Given the description of an element on the screen output the (x, y) to click on. 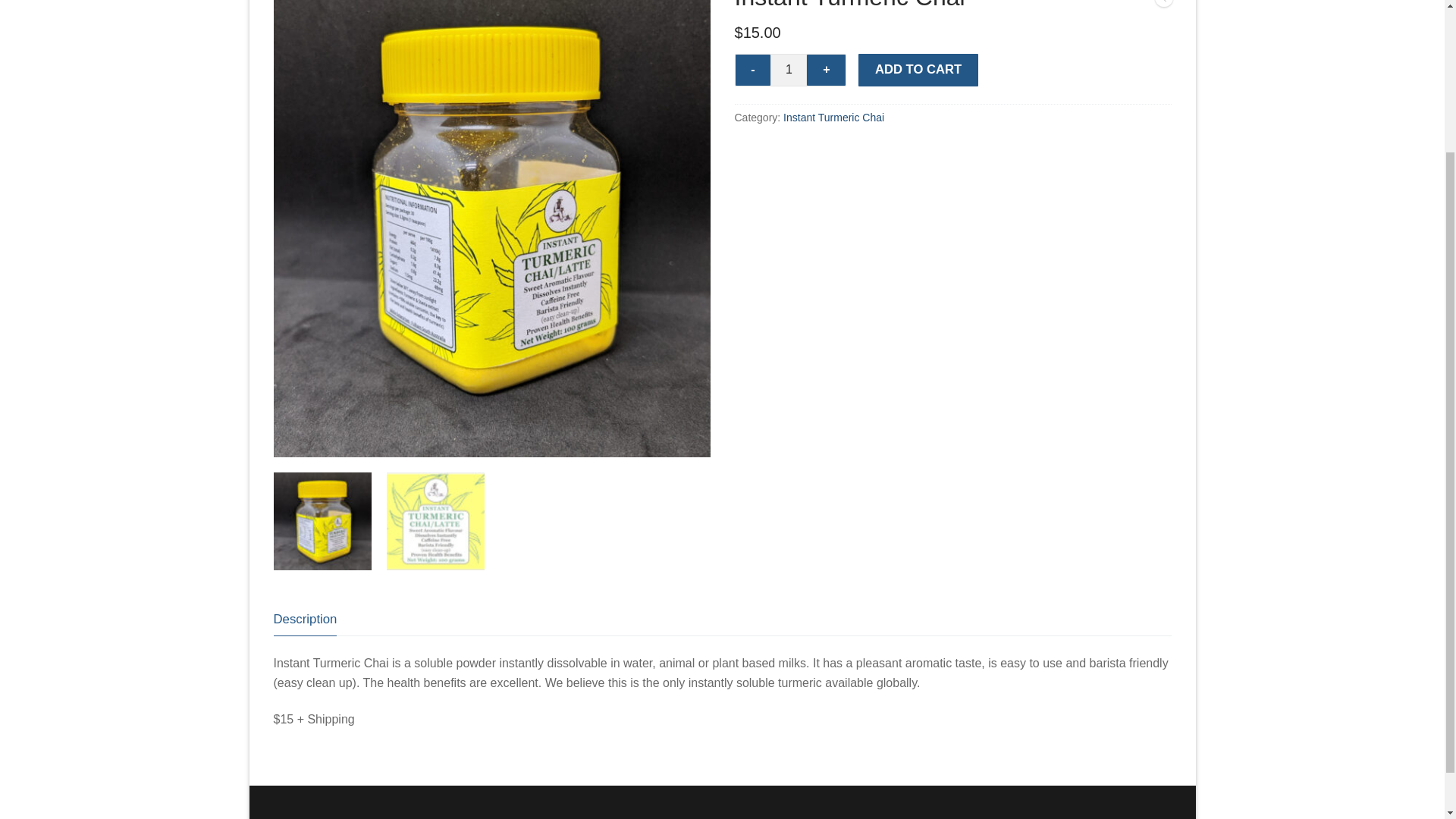
Instant Turmeric Chai (833, 117)
- (753, 70)
Muntries (1163, 6)
1 (788, 70)
Description (304, 618)
ADD TO CART (917, 70)
